Given the description of an element on the screen output the (x, y) to click on. 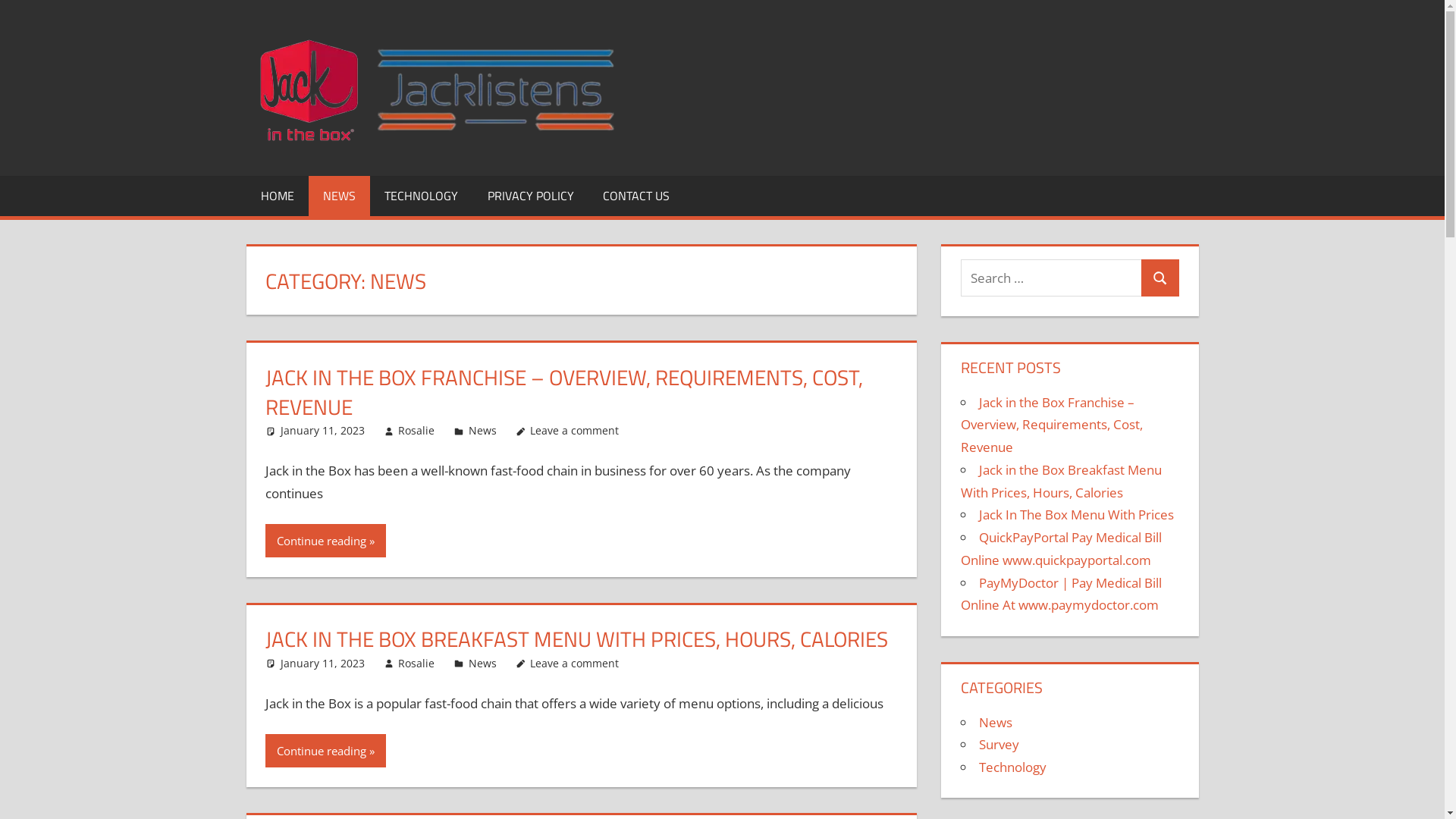
January 11, 2023 Element type: text (322, 662)
TECHNOLOGY Element type: text (421, 195)
News Element type: text (482, 662)
Leave a comment Element type: text (574, 430)
Jack in the Box Breakfast Menu With Prices, Hours, Calories Element type: text (1060, 481)
PRIVACY POLICY Element type: text (530, 195)
Search for: Element type: hover (1051, 277)
CONTACT US Element type: text (636, 195)
Jack In The Box Menu With Prices Element type: text (1076, 514)
Continue reading Element type: text (325, 750)
NEWS Element type: text (339, 195)
JACK IN THE BOX BREAKFAST MENU WITH PRICES, HOURS, CALORIES Element type: text (576, 638)
News Element type: text (482, 430)
Continue reading Element type: text (325, 540)
January 11, 2023 Element type: text (322, 430)
News Element type: text (995, 722)
PayMyDoctor | Pay Medical Bill Online At www.paymydoctor.com Element type: text (1060, 594)
Survey Element type: text (999, 744)
Technology Element type: text (1012, 766)
HOME Element type: text (276, 195)
Search Element type: text (1160, 277)
Leave a comment Element type: text (574, 662)
Rosalie Element type: text (416, 430)
Rosalie Element type: text (416, 662)
